Given the description of an element on the screen output the (x, y) to click on. 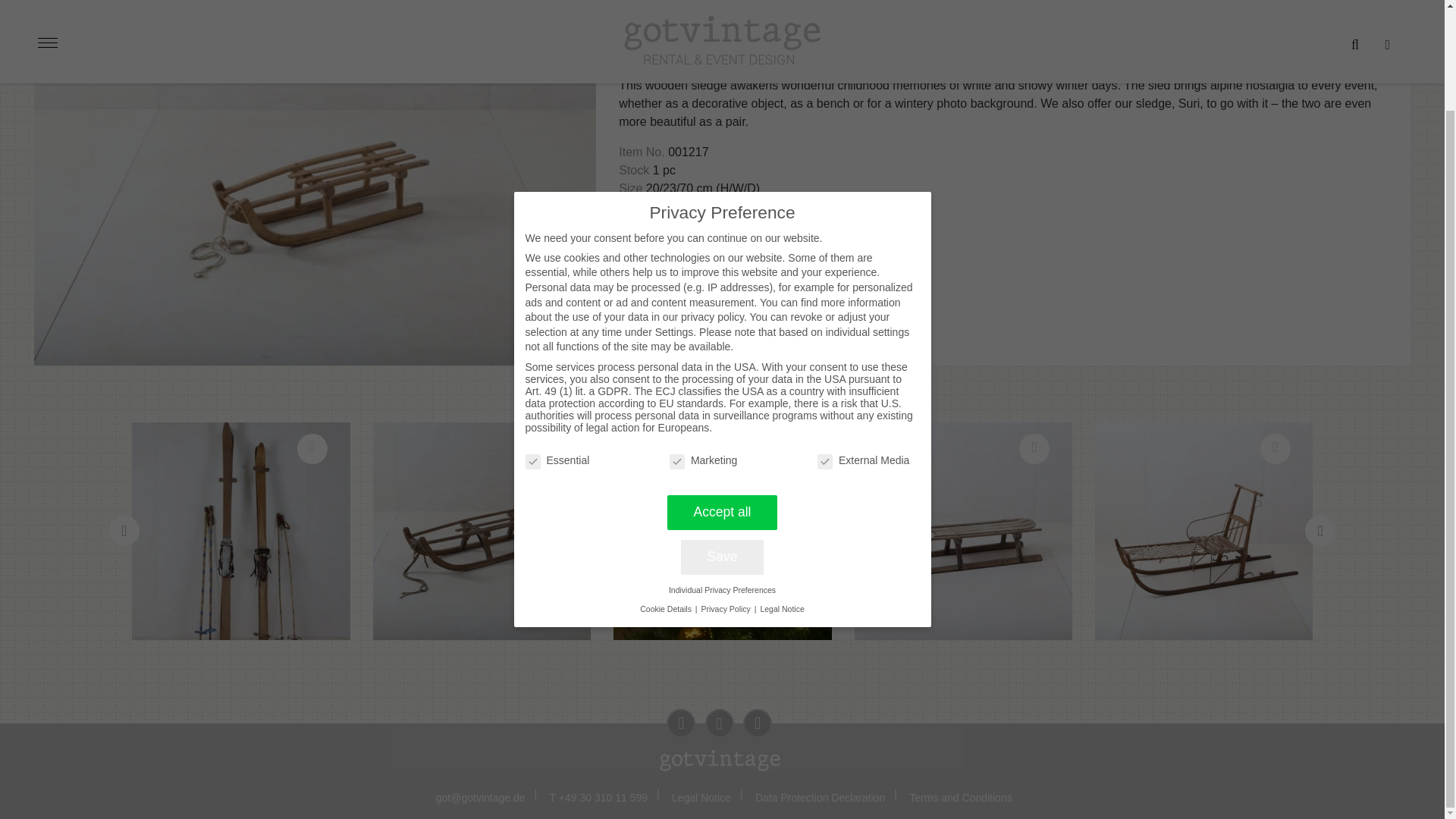
Inventory (638, 18)
Wooden Ski Virgilio Vintage (241, 531)
Add to cart (658, 281)
Winter and Christmas (718, 18)
Wooden Sleigh Suri (481, 531)
